Given the description of an element on the screen output the (x, y) to click on. 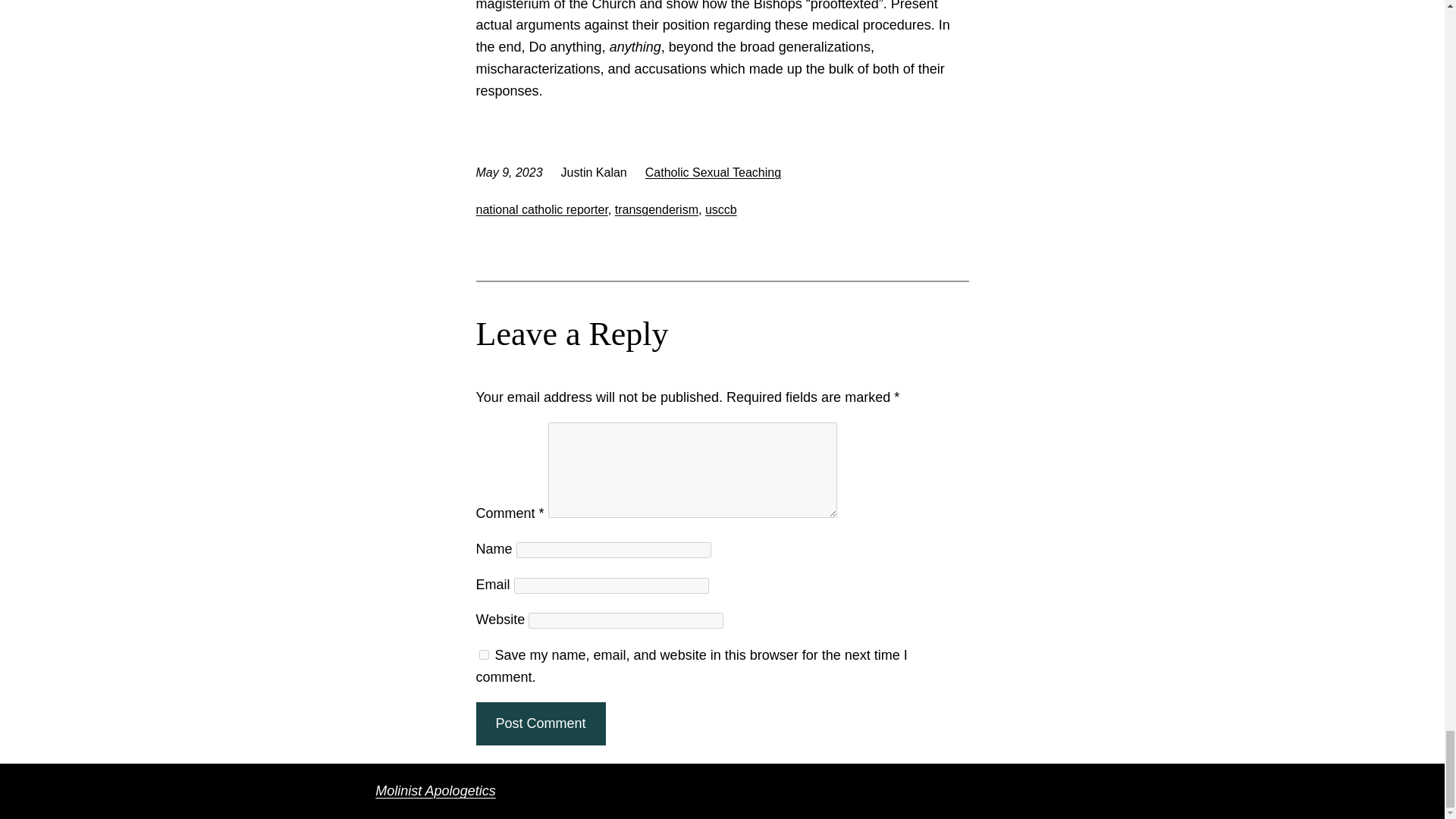
Post Comment (540, 723)
national catholic reporter (542, 209)
transgenderism (656, 209)
yes (484, 655)
usccb (720, 209)
Molinist Apologetics (435, 790)
Post Comment (540, 723)
Catholic Sexual Teaching (712, 172)
